Given the description of an element on the screen output the (x, y) to click on. 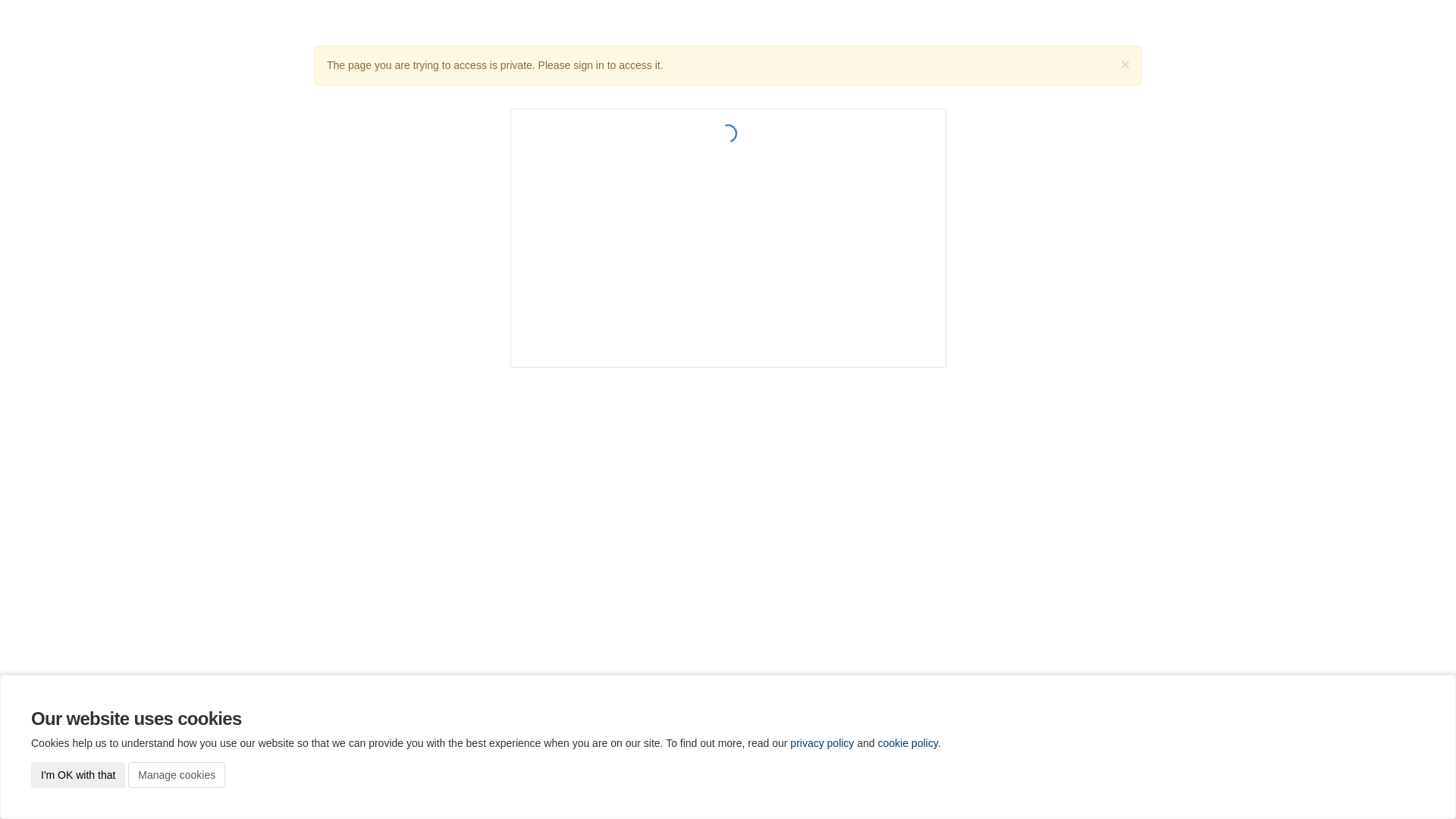
I'm OK with that Element type: text (78, 774)
cookie policy Element type: text (908, 743)
privacy policy Element type: text (821, 743)
Manage cookies Element type: text (176, 774)
